Given the description of an element on the screen output the (x, y) to click on. 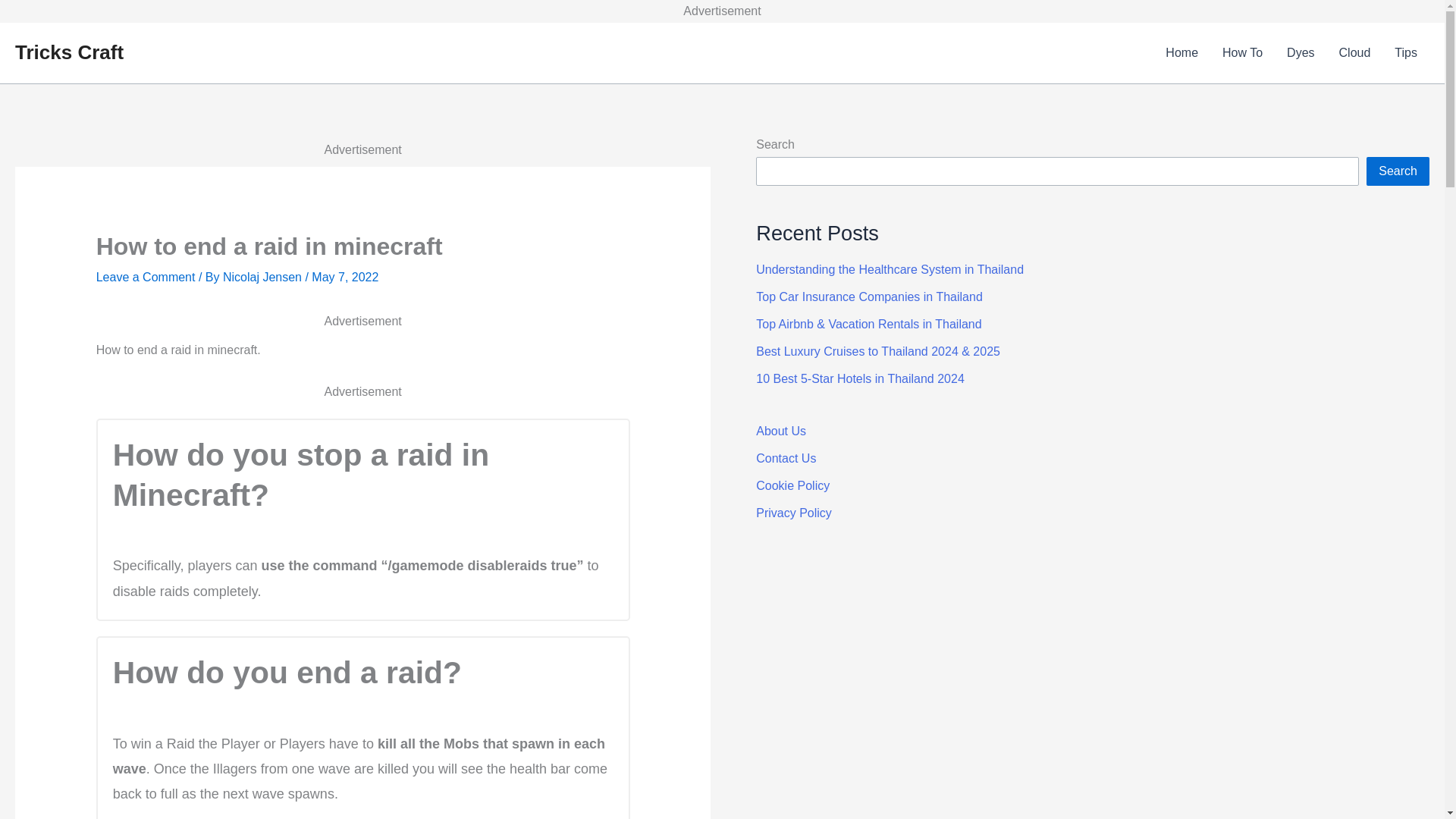
About Us (780, 431)
View all posts by Nicolaj Jensen (263, 277)
Home (1181, 52)
Contact Us (785, 458)
Cookie Policy (792, 485)
How To (1242, 52)
Cloud (1354, 52)
10 Best 5-Star Hotels in Thailand 2024 (859, 378)
Top Car Insurance Companies in Thailand (868, 296)
Tricks Craft (68, 51)
Leave a Comment (145, 277)
Search (1398, 171)
Privacy Policy (793, 512)
Understanding the Healthcare System in Thailand (889, 269)
Nicolaj Jensen (263, 277)
